Given the description of an element on the screen output the (x, y) to click on. 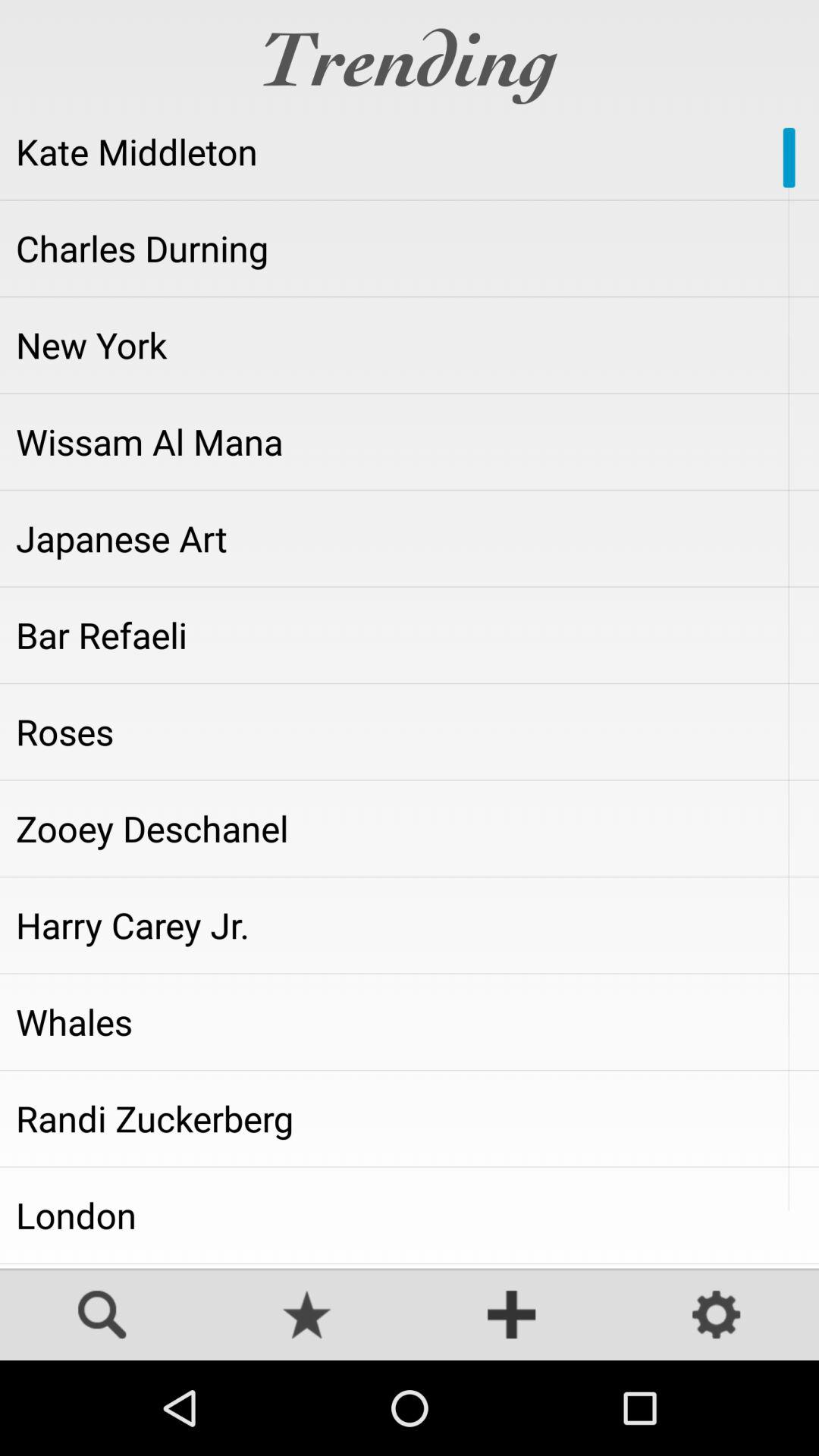
choose the wissam al mana app (409, 441)
